Given the description of an element on the screen output the (x, y) to click on. 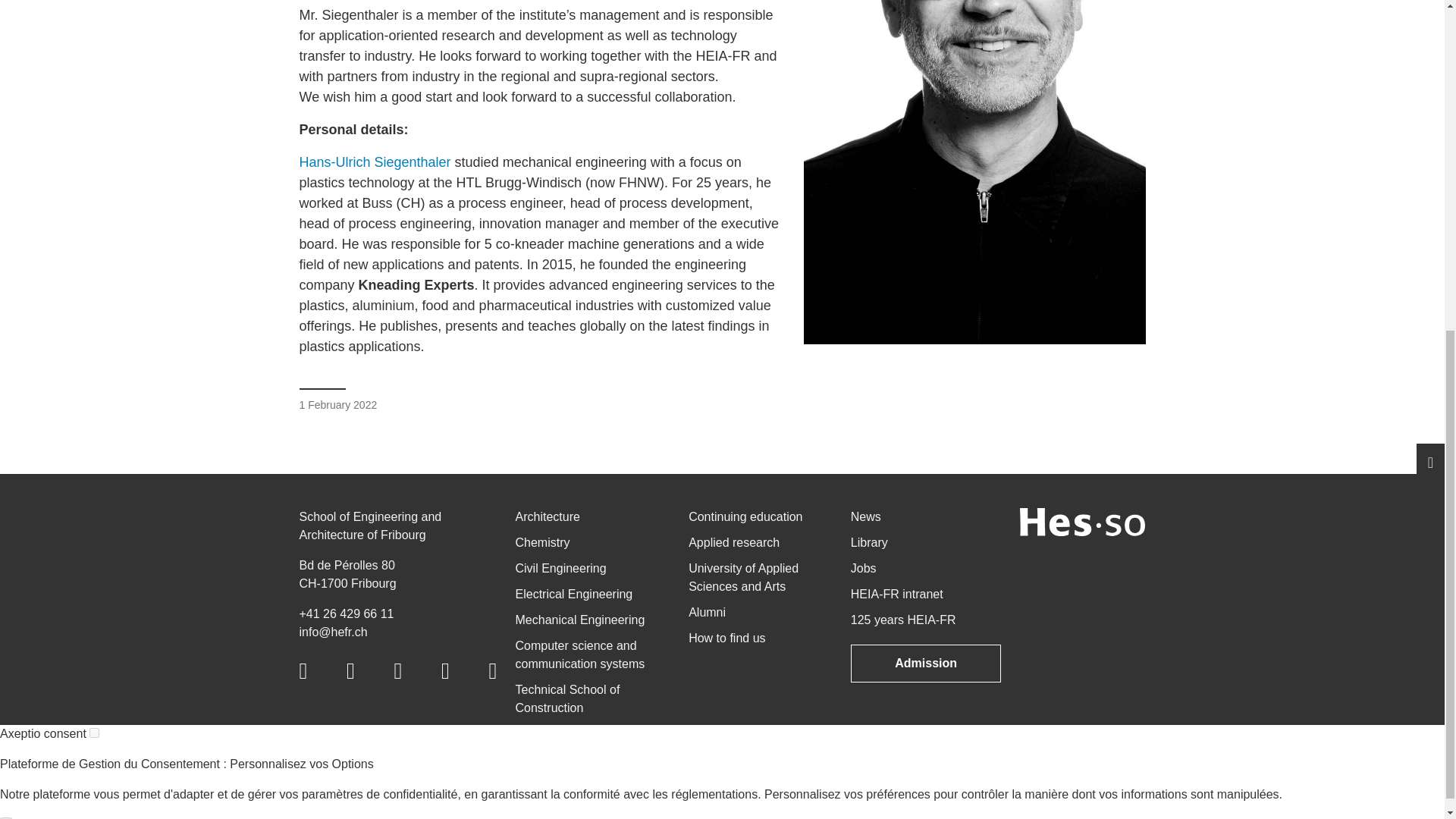
Architecture (547, 516)
Hans-Ulrich Siegenthaler (373, 161)
Chemistry (542, 542)
